Given the description of an element on the screen output the (x, y) to click on. 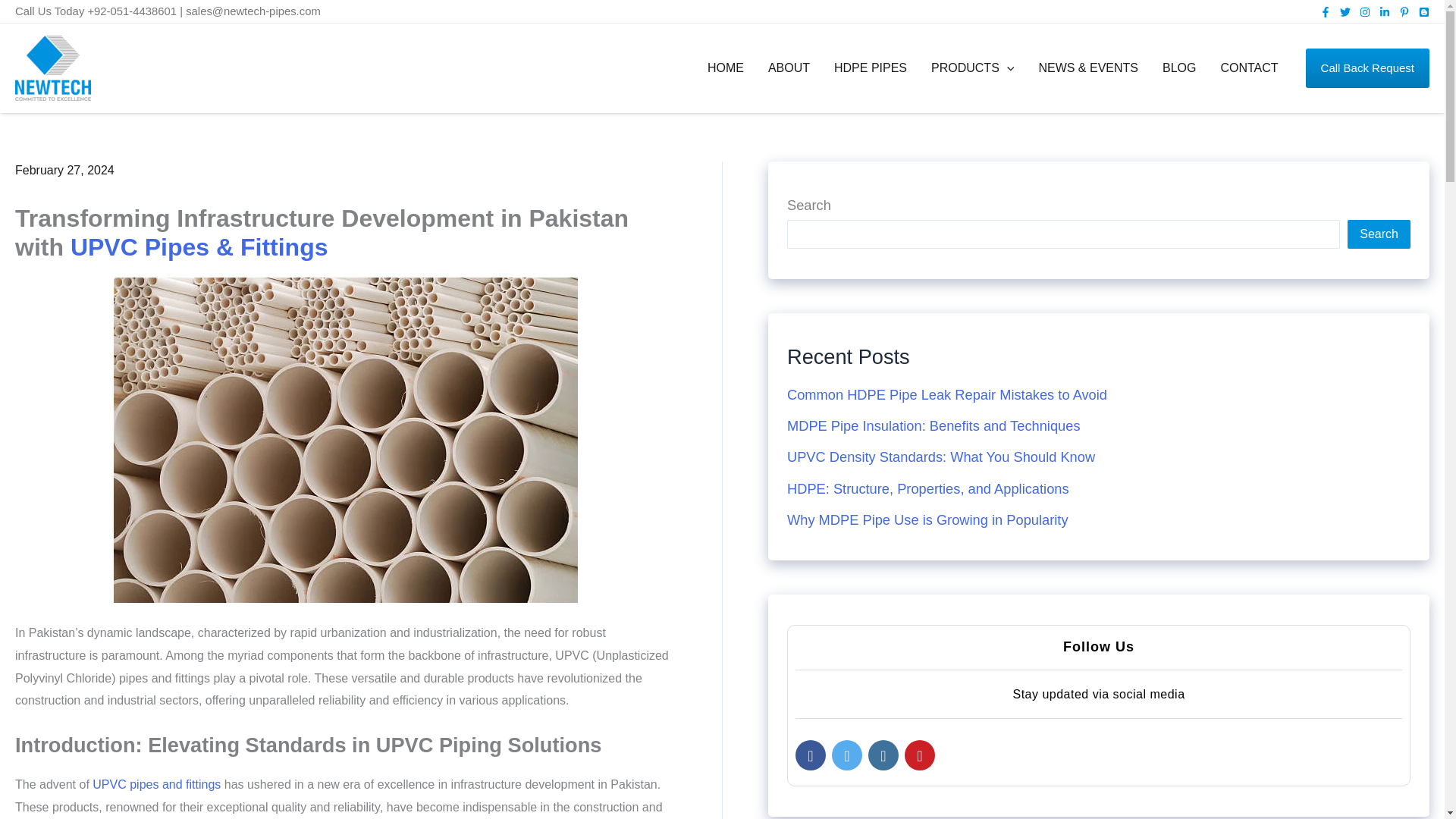
Call Back Request (1367, 67)
BLOG (1179, 67)
CONTACT (1249, 67)
HOME (725, 67)
ABOUT (788, 67)
PRODUCTS (972, 67)
HDPE PIPES (870, 67)
